Given the description of an element on the screen output the (x, y) to click on. 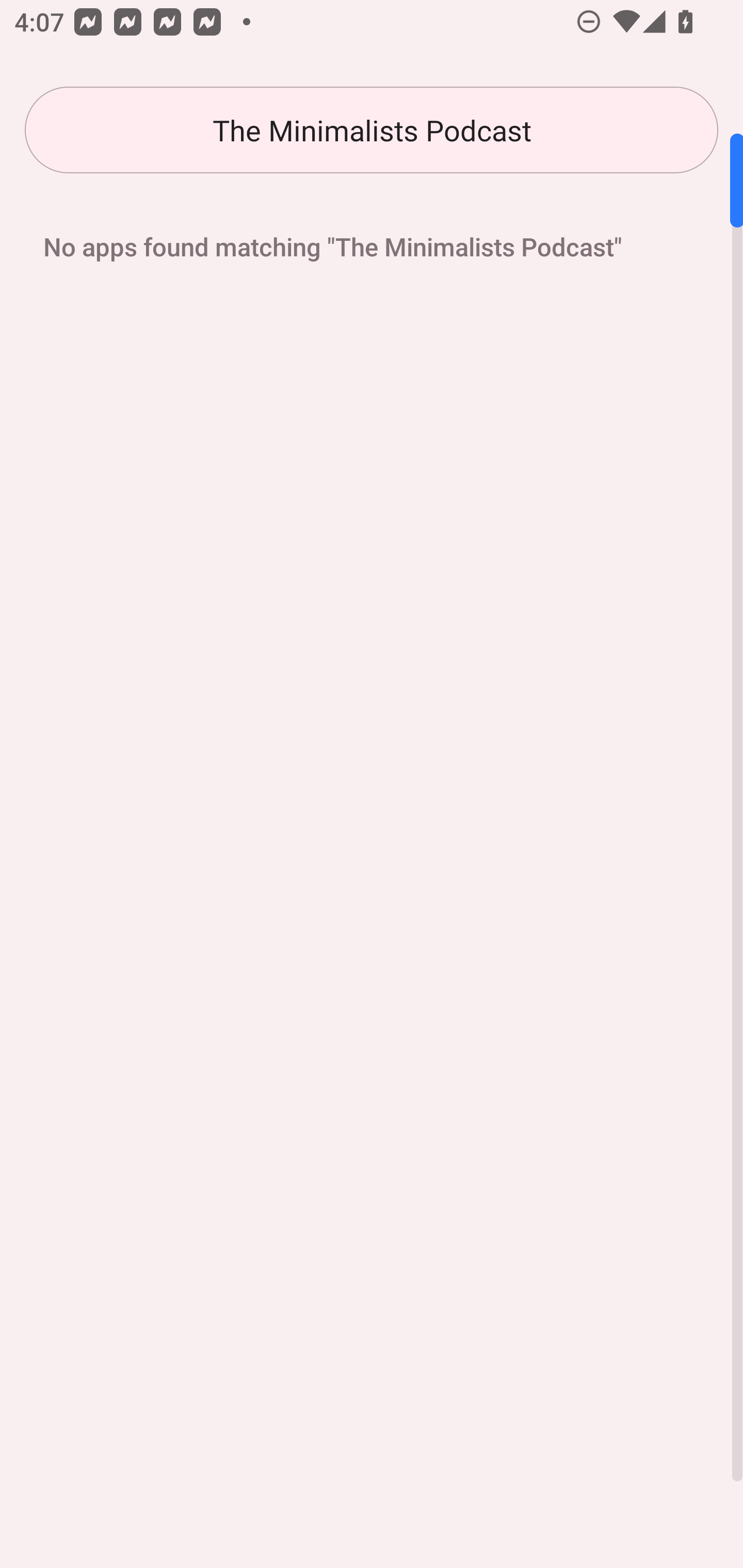
The Minimalists Podcast (371, 130)
